Given the description of an element on the screen output the (x, y) to click on. 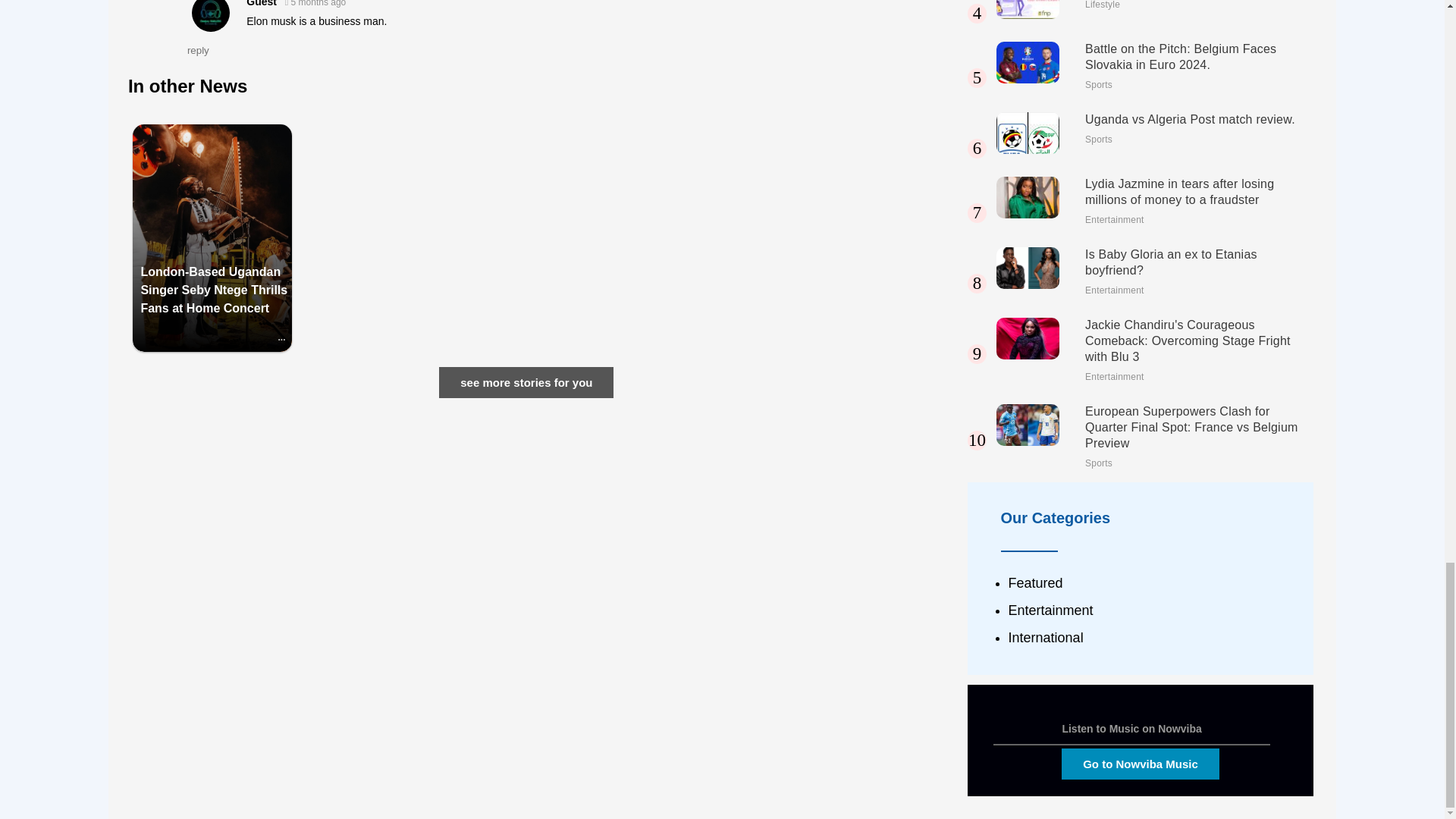
reply (198, 50)
see more stories for you (525, 382)
reply (198, 50)
Guest (261, 3)
see more stories for you (526, 382)
